Given the description of an element on the screen output the (x, y) to click on. 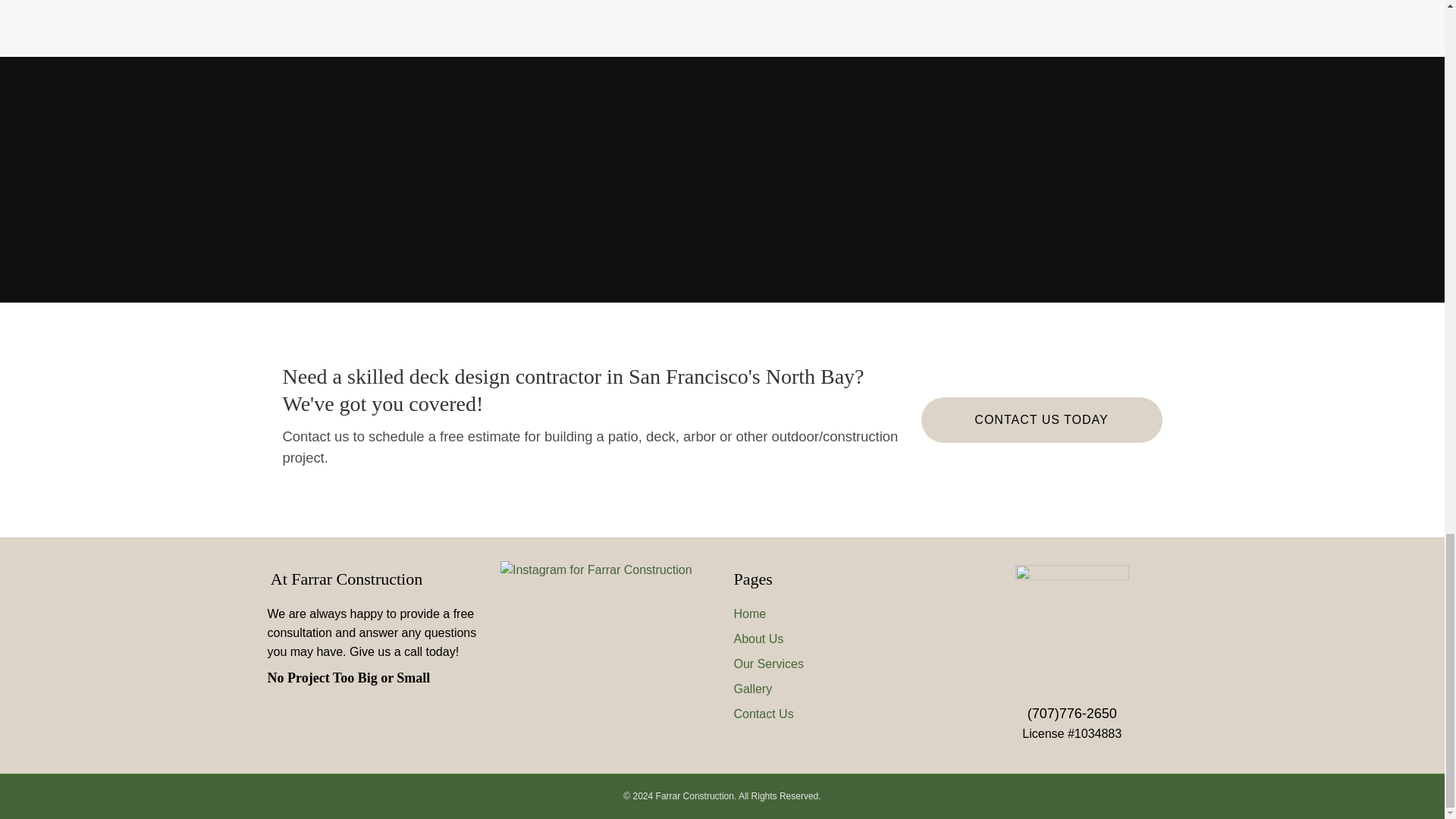
Contact Us (763, 713)
Home (750, 613)
Our Services (768, 663)
CONTACT US TODAY (1040, 419)
Gallery (753, 688)
About Us (758, 638)
